Given the description of an element on the screen output the (x, y) to click on. 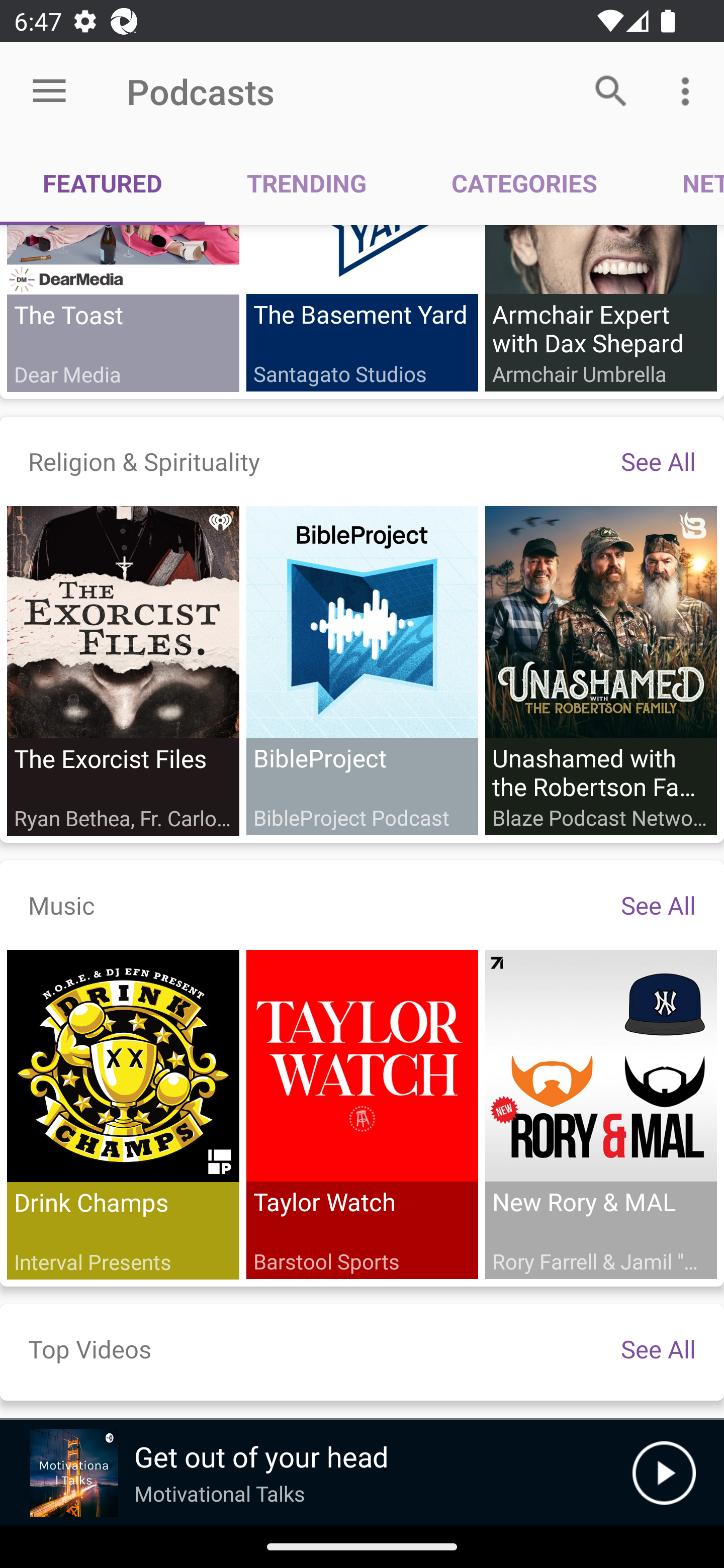
Open menu (49, 91)
Search (611, 90)
More options (688, 90)
FEATURED (102, 183)
TRENDING (306, 183)
CATEGORIES (524, 183)
The Toast Dear Media (123, 308)
The Basement Yard Santagato Studios (361, 308)
Armchair Expert with Dax Shepard Armchair Umbrella (600, 308)
Religion & Spirituality (143, 461)
See All (658, 461)
The Exorcist Files Ryan Bethea, Fr. Carlos Martins (123, 670)
BibleProject BibleProject Podcast (361, 670)
Music (61, 905)
See All (658, 905)
Drink Champs Interval Presents (123, 1114)
Taylor Watch Barstool Sports (361, 1114)
Top Videos (89, 1348)
See All (658, 1348)
Picture Get out of your head Motivational Talks (316, 1472)
Play (663, 1472)
